Given the description of an element on the screen output the (x, y) to click on. 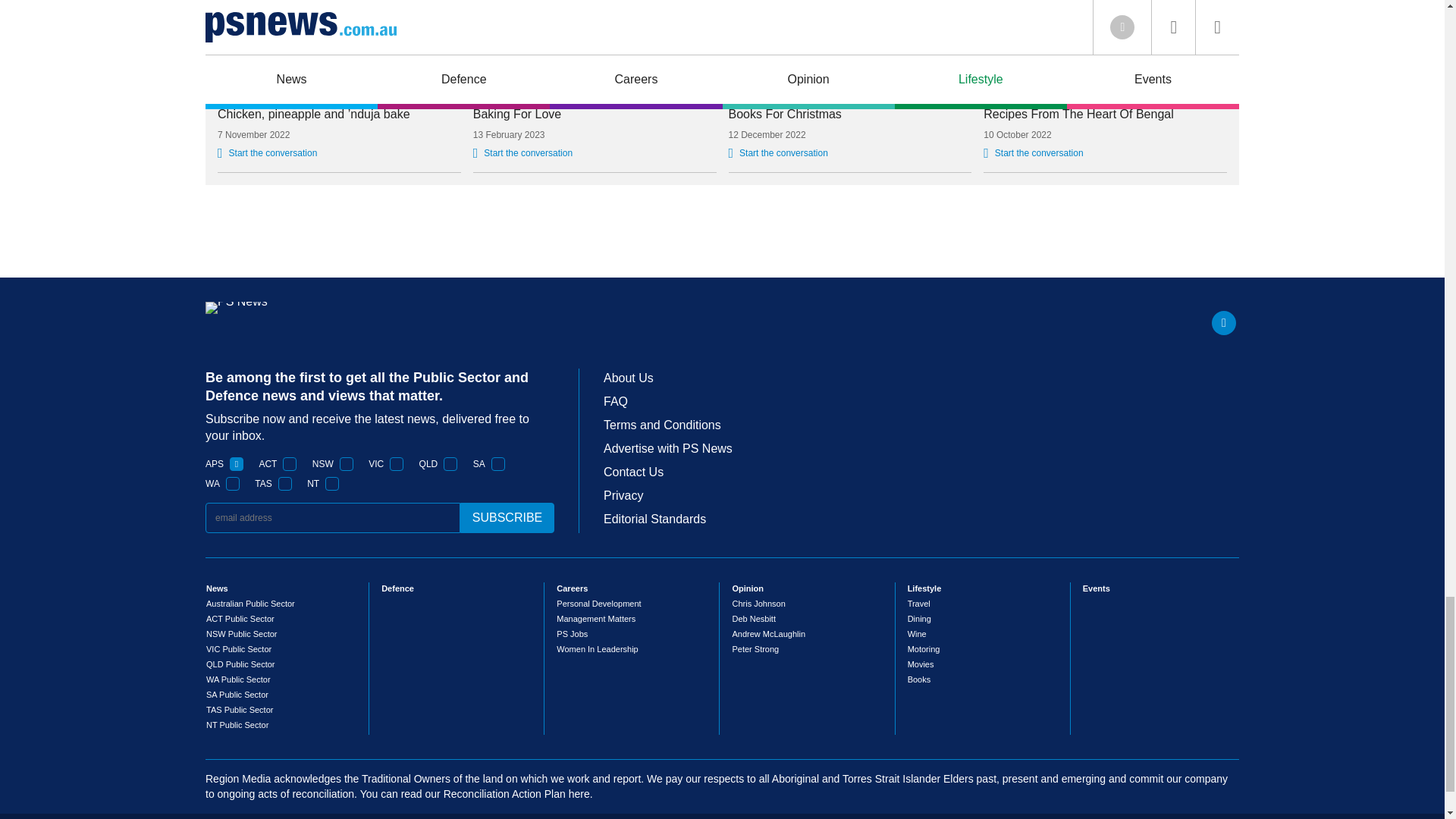
1 (498, 463)
1 (331, 483)
1 (346, 463)
1 (236, 463)
1 (285, 483)
1 (289, 463)
LinkedIn (1223, 322)
1 (396, 463)
subscribe (507, 517)
1 (232, 483)
1 (450, 463)
